Given the description of an element on the screen output the (x, y) to click on. 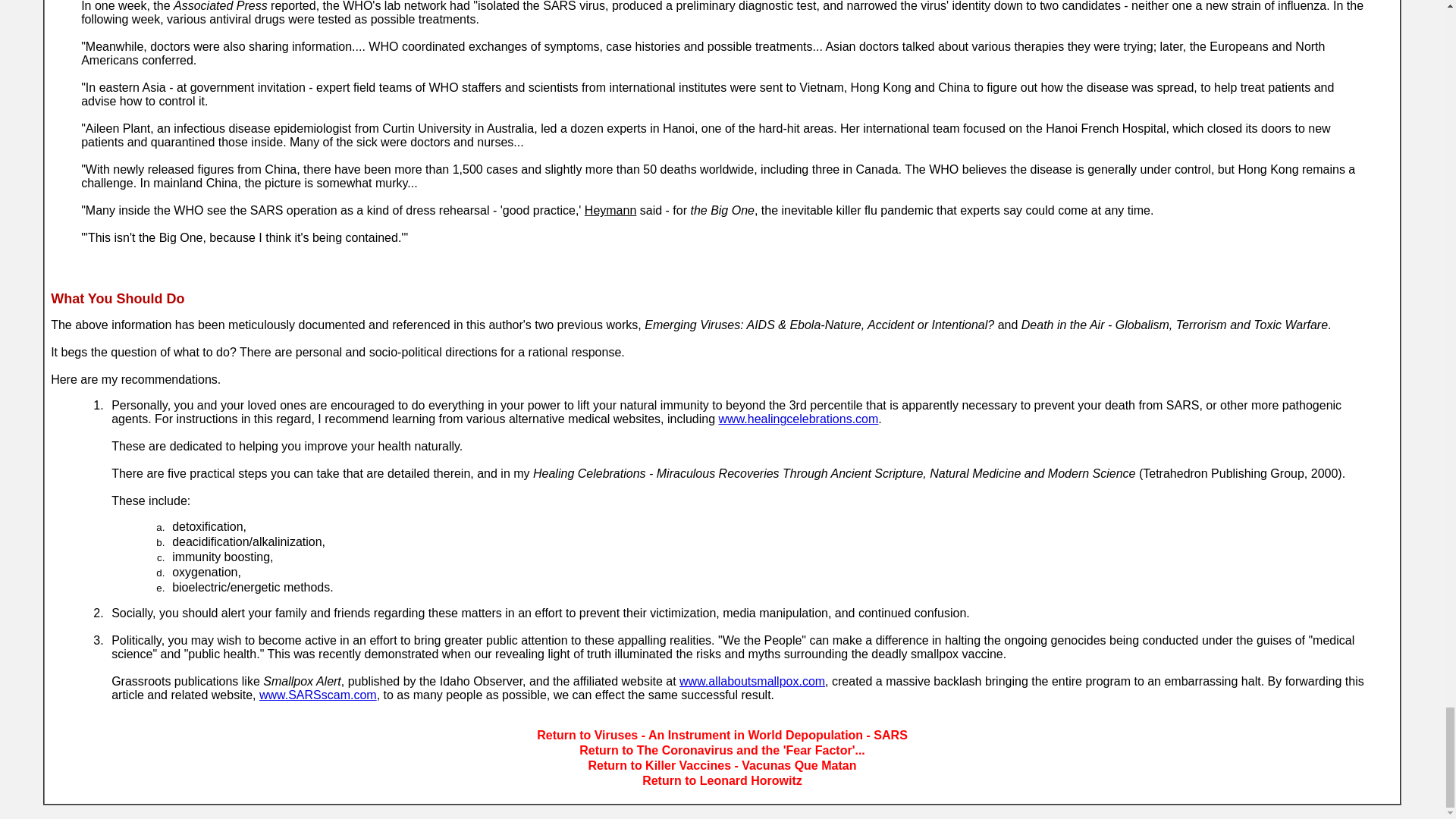
www.healingcelebrations.com (799, 418)
www.SARSscam.com (318, 694)
Return to The Coronavirus and the 'Fear Factor'... (721, 749)
www.allaboutsmallpox.com (752, 680)
Return to Leonard Horowitz (722, 780)
Return to Killer Vaccines - Vacunas Que Matan (722, 765)
